Given the description of an element on the screen output the (x, y) to click on. 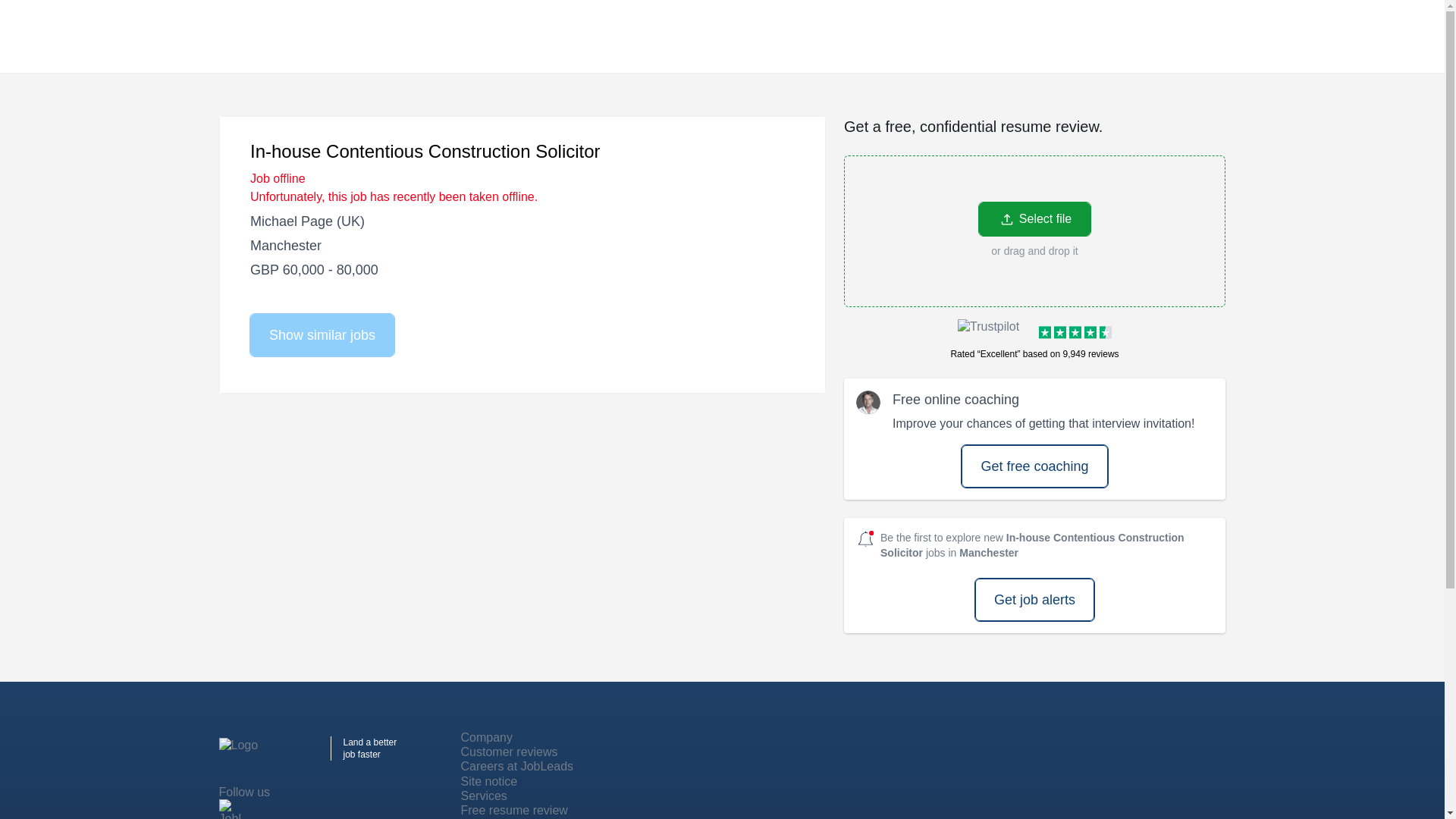
Get free coaching (1033, 466)
Get job alerts (1034, 599)
Show similar jobs (322, 334)
Select file (1034, 218)
Customer reviews (509, 751)
Careers at JobLeads (517, 766)
Site notice (489, 780)
Free resume review (514, 809)
